Given the description of an element on the screen output the (x, y) to click on. 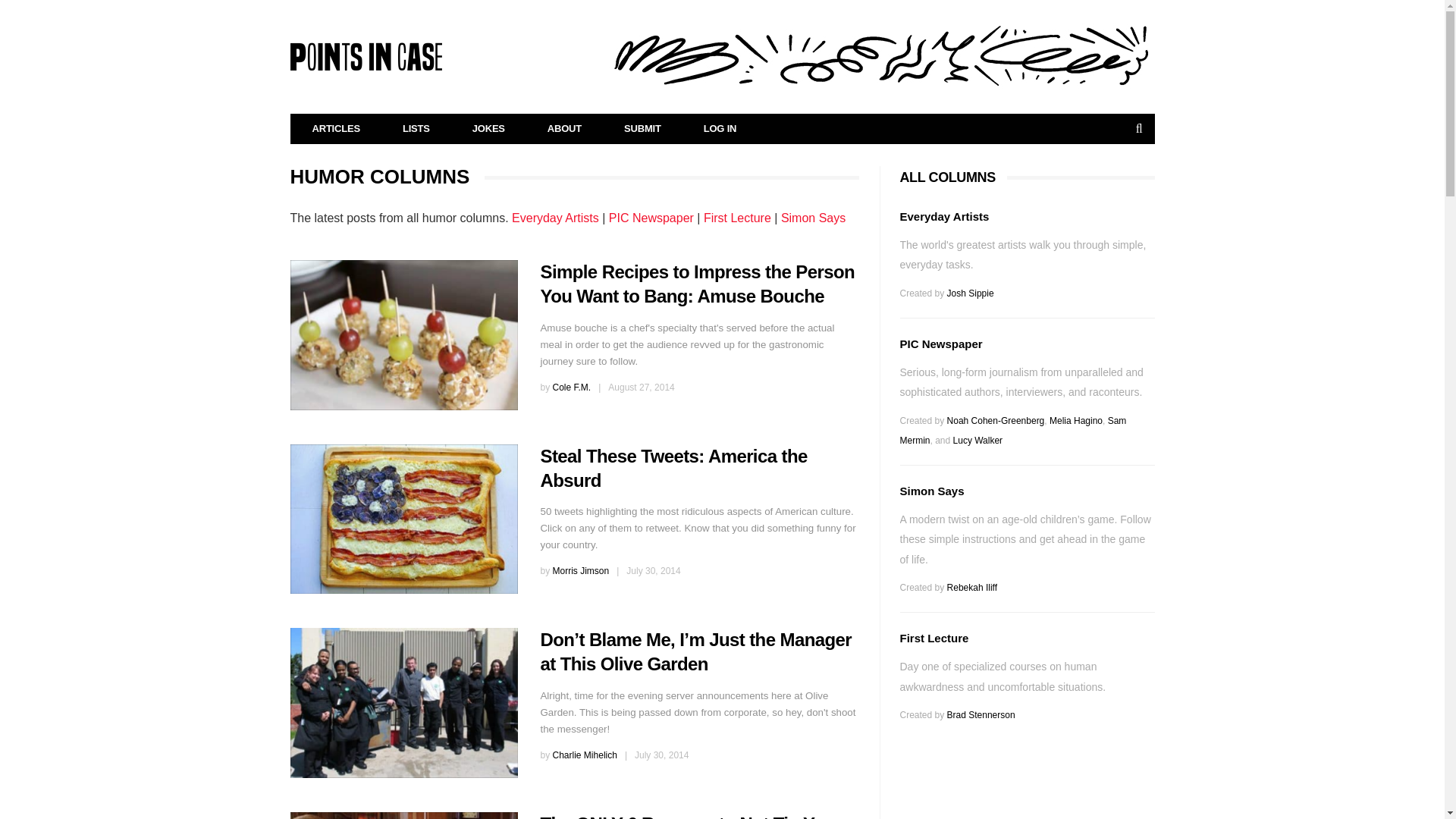
First Lecture (737, 217)
LOG IN (720, 128)
Posts by Morris Jimson (581, 570)
ABOUT (563, 128)
Posts by Cole F.M. (572, 387)
The ONLY 6 Reasons to Not Tip Your Server (690, 816)
ARTICLES (336, 128)
JOKES (488, 128)
PIC Newspaper (651, 217)
Steal These Tweets: America the Absurd (402, 519)
The ONLY 6 Reasons to Not Tip Your Server (402, 815)
Everyday Artists (555, 217)
SUBMIT (642, 128)
